Given the description of an element on the screen output the (x, y) to click on. 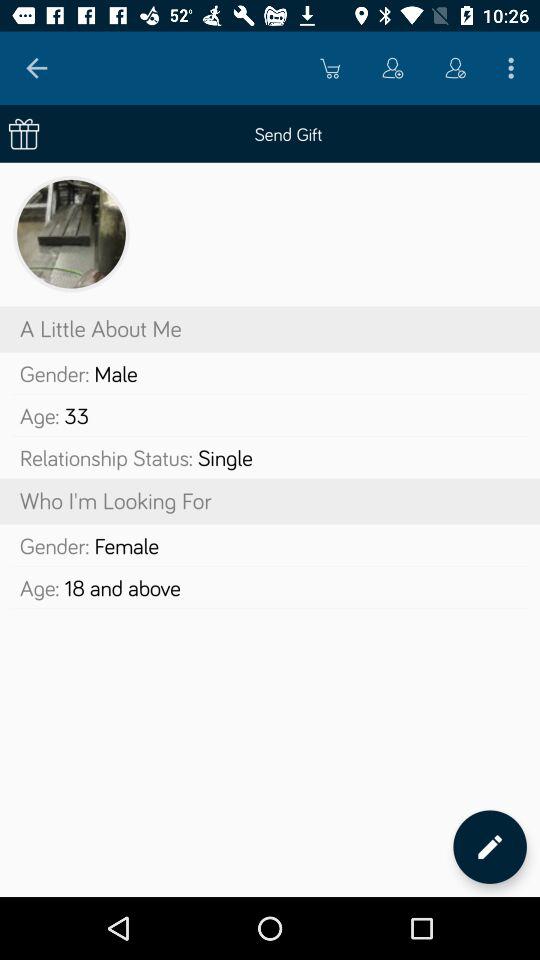
edit profile (489, 846)
